Given the description of an element on the screen output the (x, y) to click on. 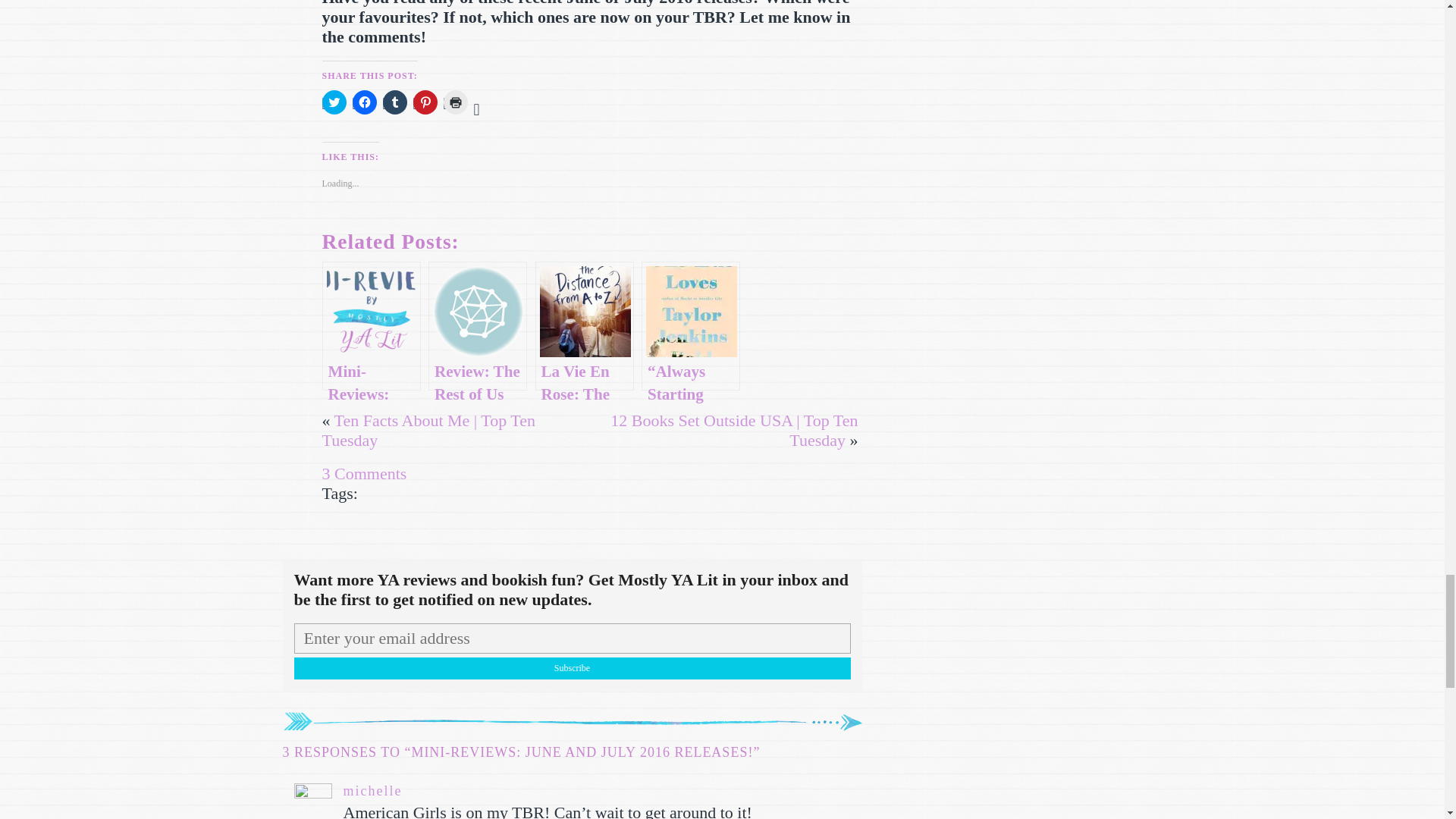
Subscribe (572, 668)
Click to share on Twitter (333, 102)
Click to share on Pinterest (424, 102)
Click to share on Tumblr (393, 102)
Click to share on Facebook (363, 102)
